Given the description of an element on the screen output the (x, y) to click on. 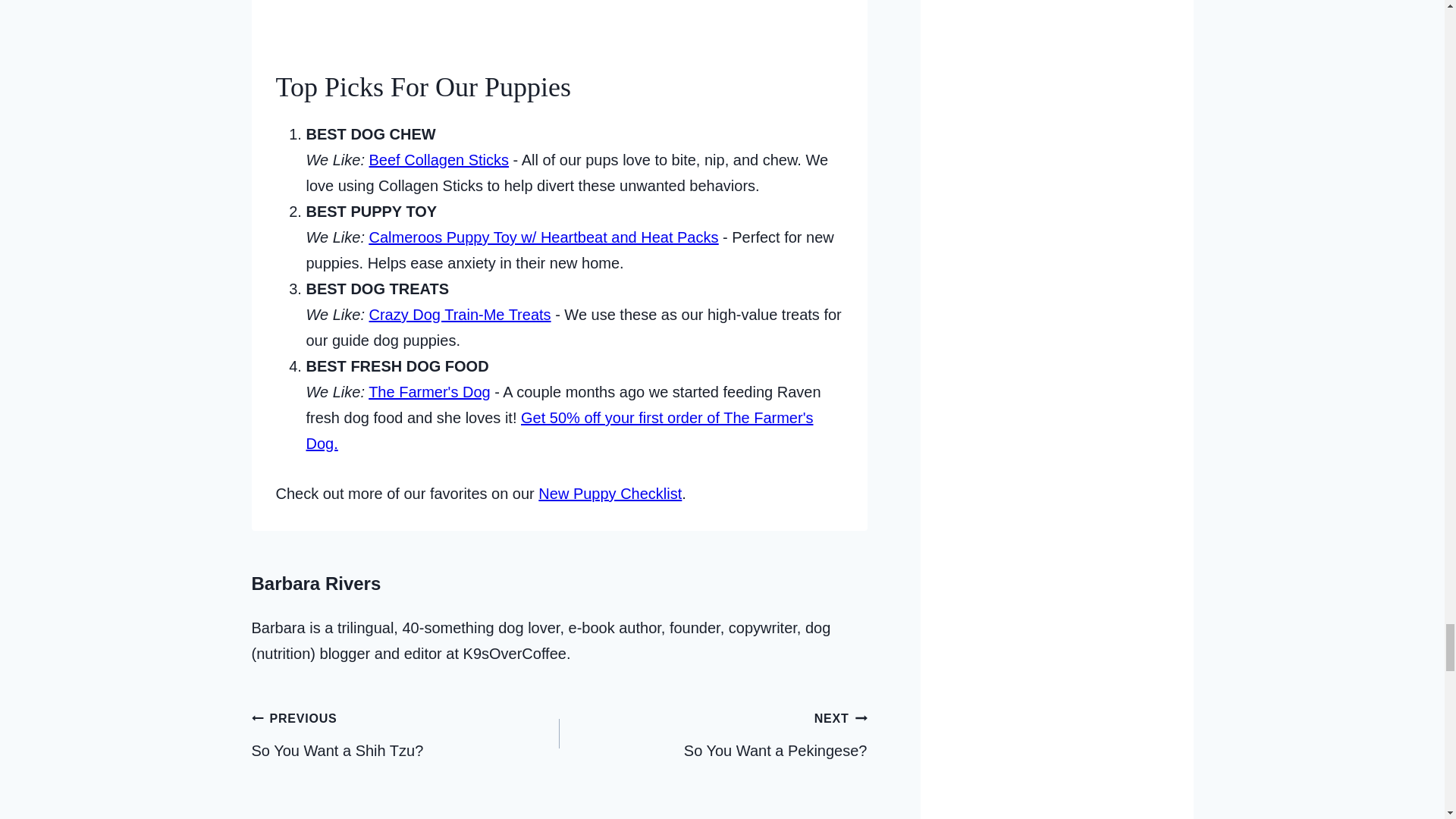
Posts by Barbara Rivers (316, 583)
